Given the description of an element on the screen output the (x, y) to click on. 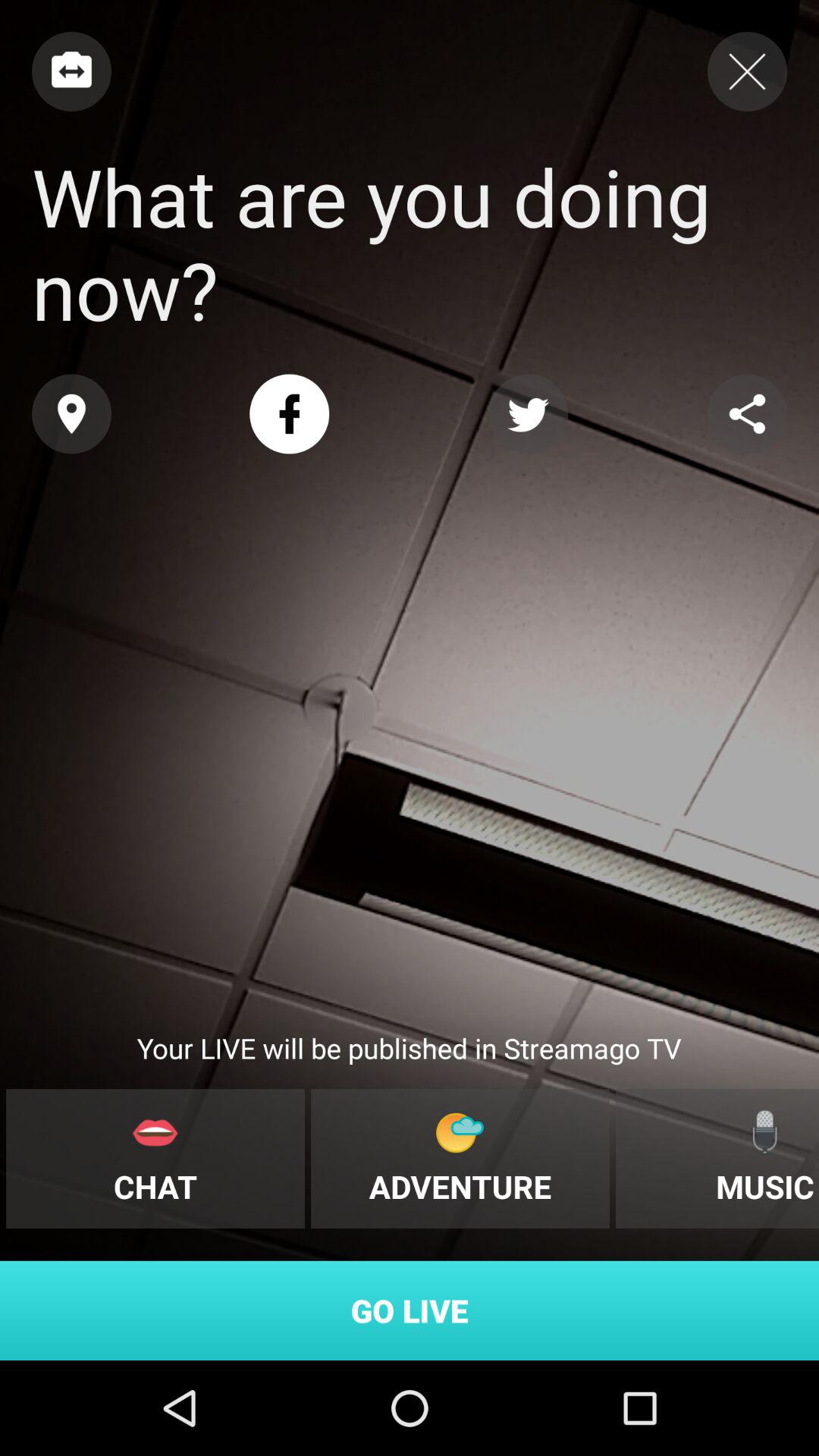
facebook option (289, 413)
